Given the description of an element on the screen output the (x, y) to click on. 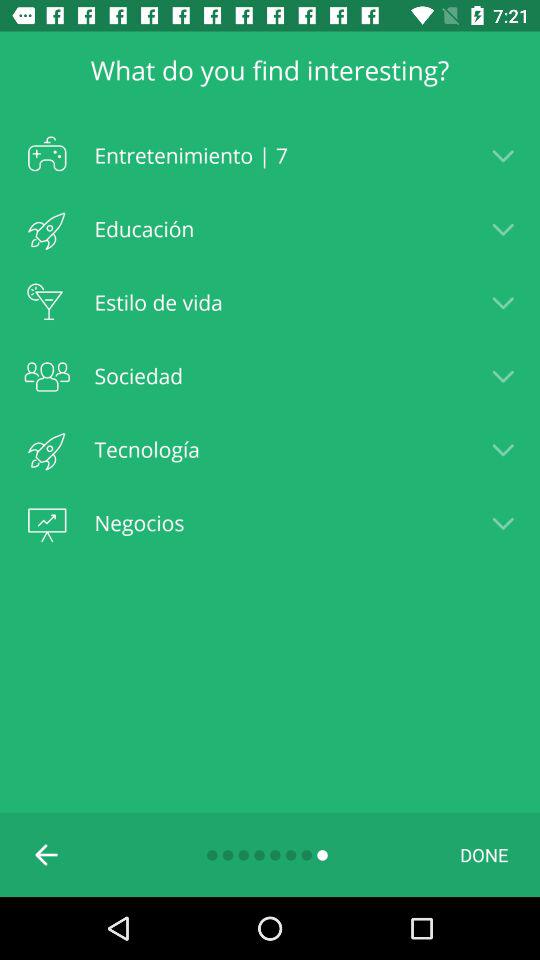
click item next to the done item (47, 854)
